Given the description of an element on the screen output the (x, y) to click on. 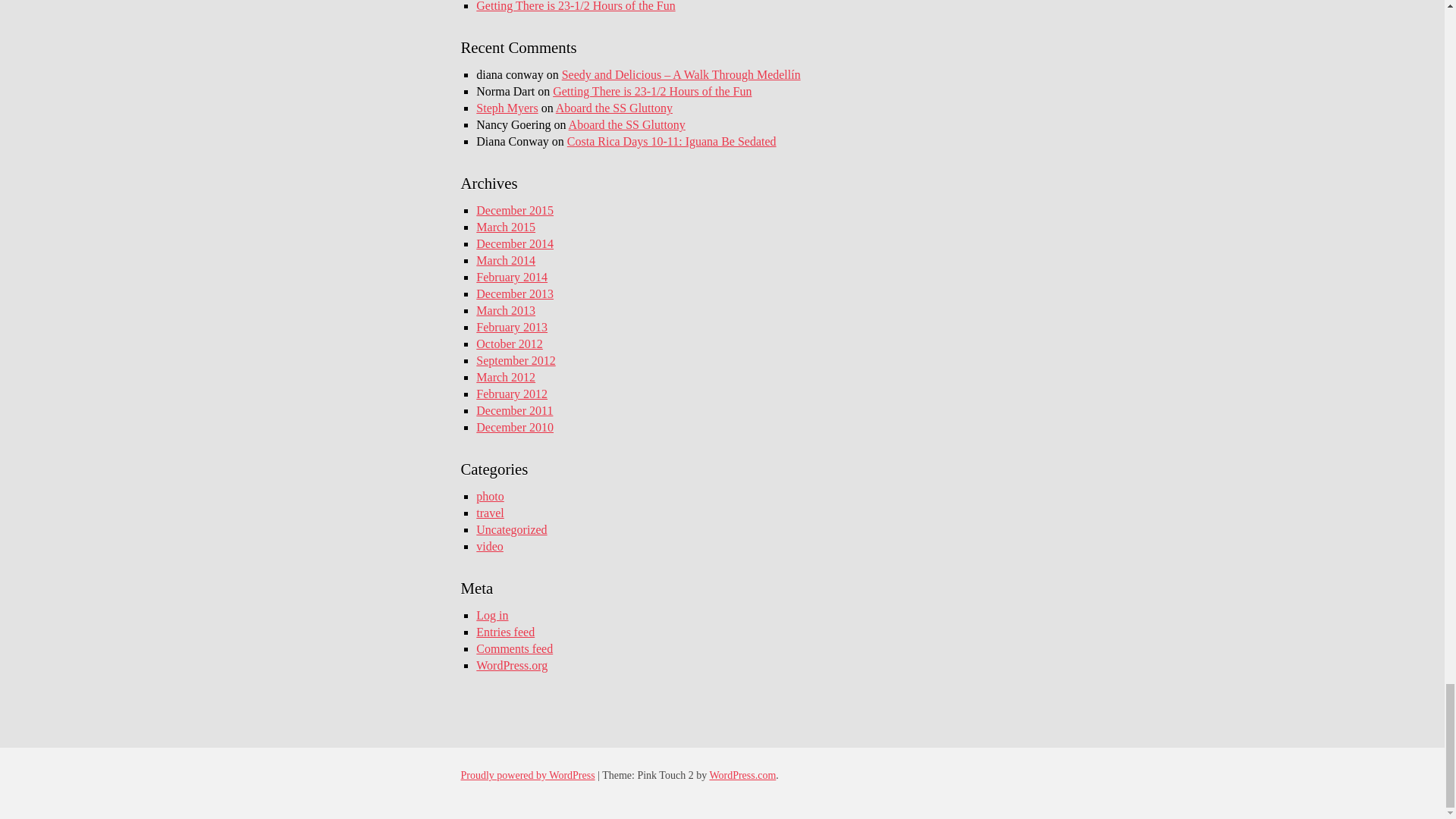
March 2015 (505, 226)
December 2010 (514, 427)
December 2011 (514, 410)
March 2013 (505, 309)
Costa Rica Days 10-11: Iguana Be Sedated (671, 141)
February 2013 (511, 327)
Aboard the SS Gluttony (614, 107)
February 2012 (511, 393)
Steph Myers (506, 107)
March 2014 (505, 259)
September 2012 (515, 359)
photo (489, 495)
December 2014 (514, 243)
October 2012 (509, 343)
March 2012 (505, 377)
